Given the description of an element on the screen output the (x, y) to click on. 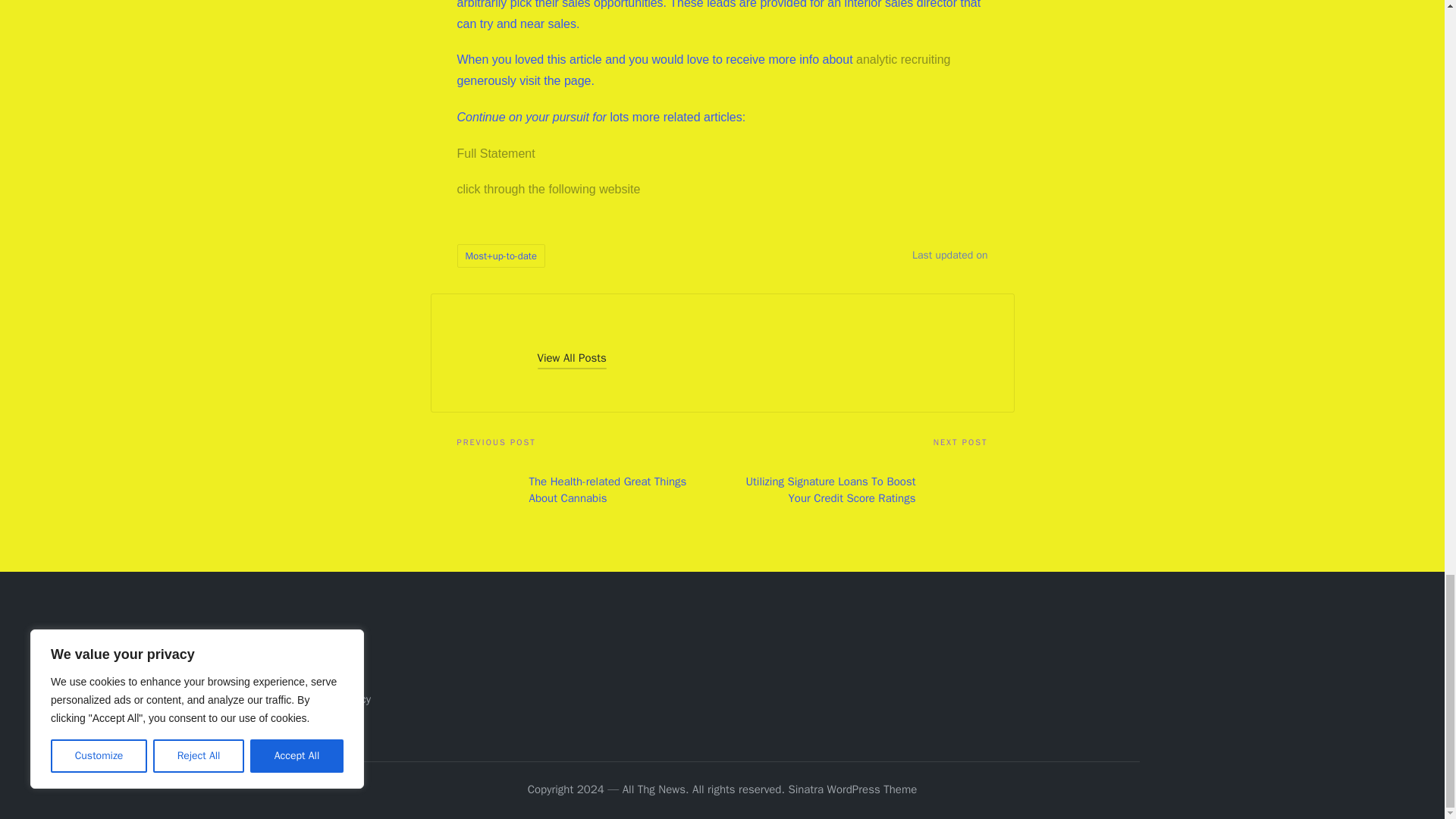
About (318, 649)
The Health-related Great Things About Cannabis (589, 489)
click through the following website (548, 188)
analytic recruiting (903, 59)
Privacy Policy (337, 698)
Full Statement (495, 153)
Utilizing Signature Loans To Boost Your Credit Score Ratings (854, 489)
View All Posts (571, 358)
Sinatra WordPress Theme (852, 790)
Contact (323, 674)
